Given the description of an element on the screen output the (x, y) to click on. 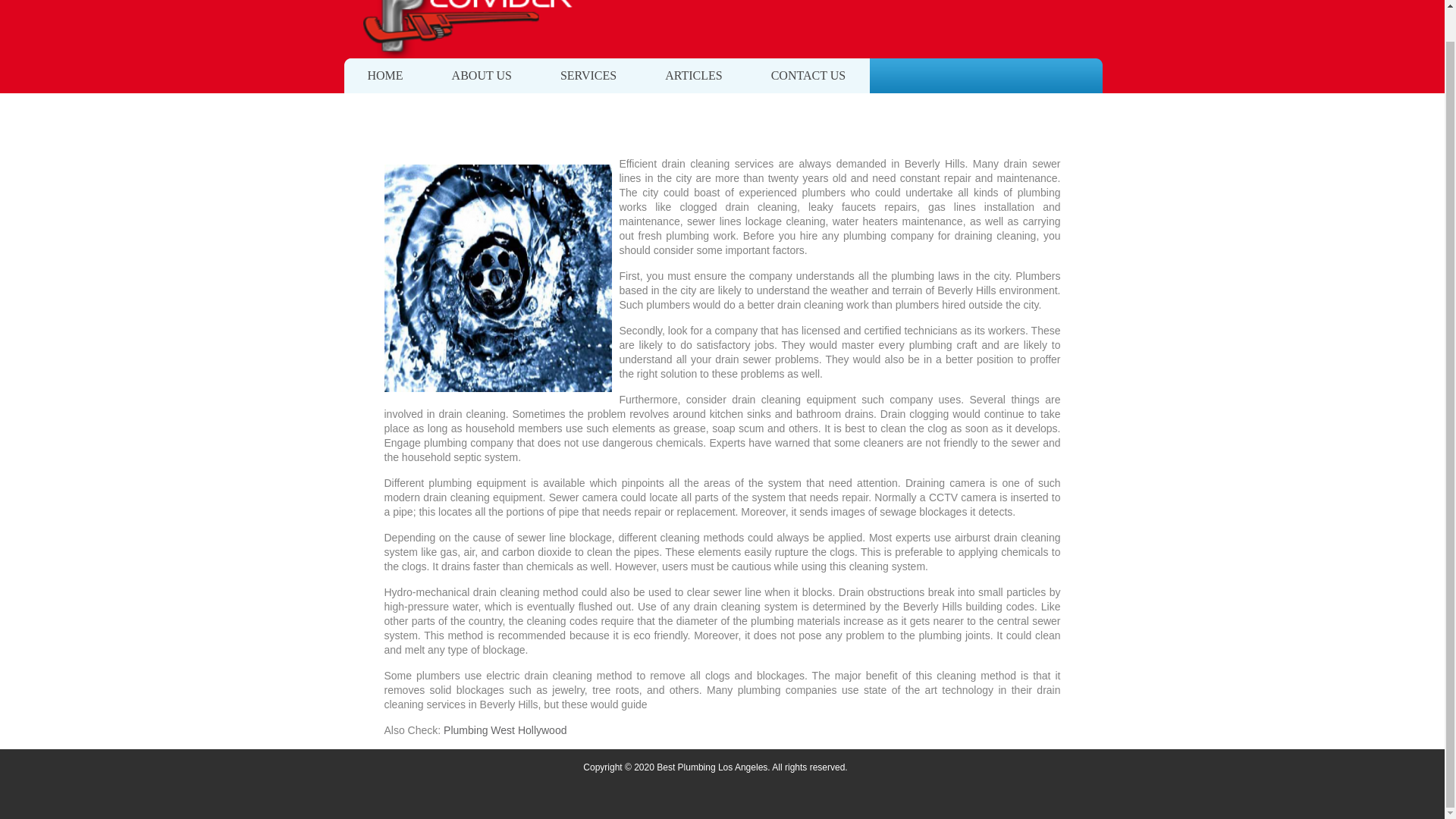
HOME (384, 75)
ARTICLES (692, 75)
SERVICES (587, 75)
ABOUT US (481, 75)
